Given the description of an element on the screen output the (x, y) to click on. 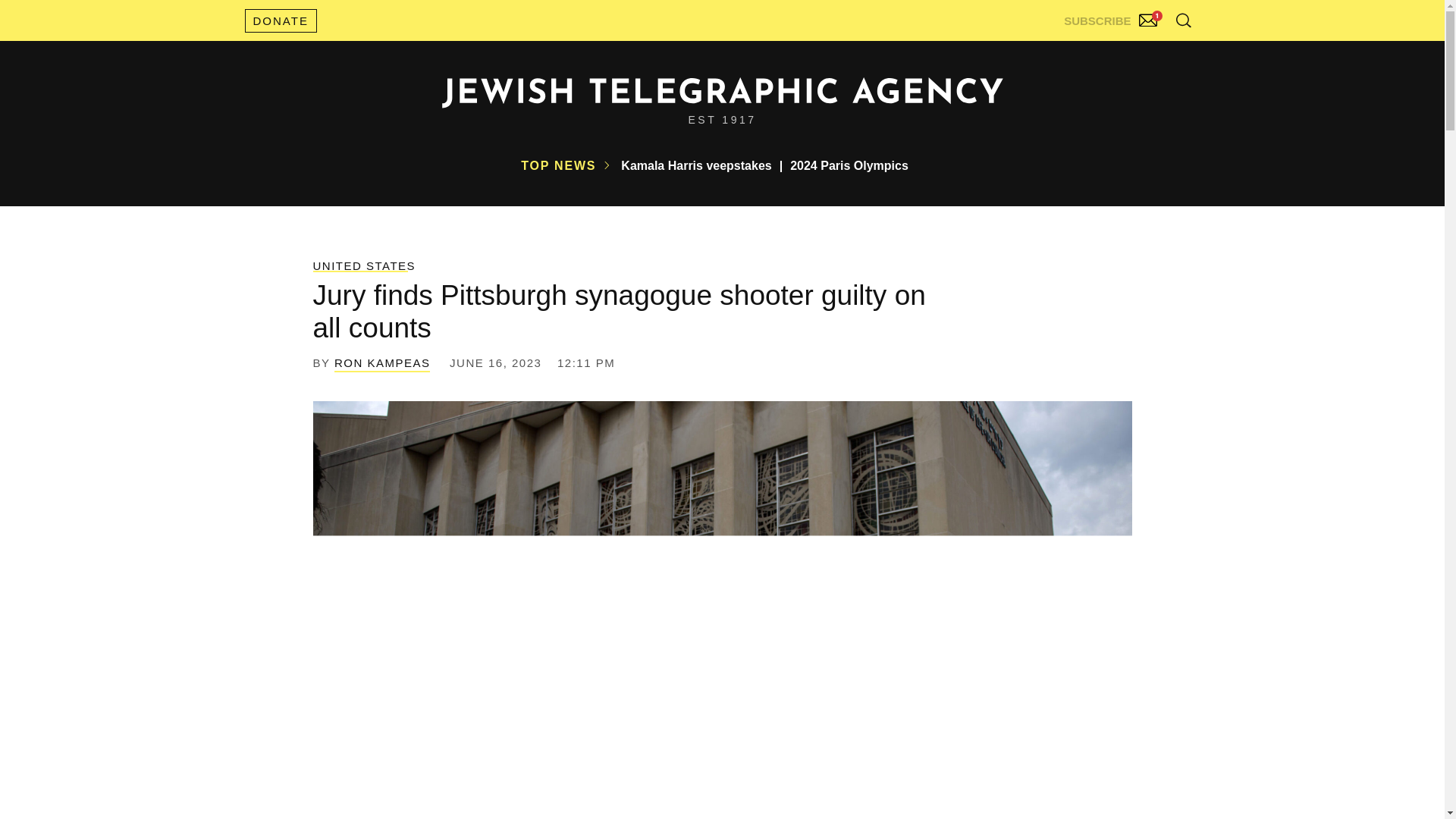
SUBSCRIBE (1112, 17)
Search (1144, 53)
SEARCH TOGGLESEARCH TOGGLE (1182, 20)
DONATE (279, 20)
